Given the description of an element on the screen output the (x, y) to click on. 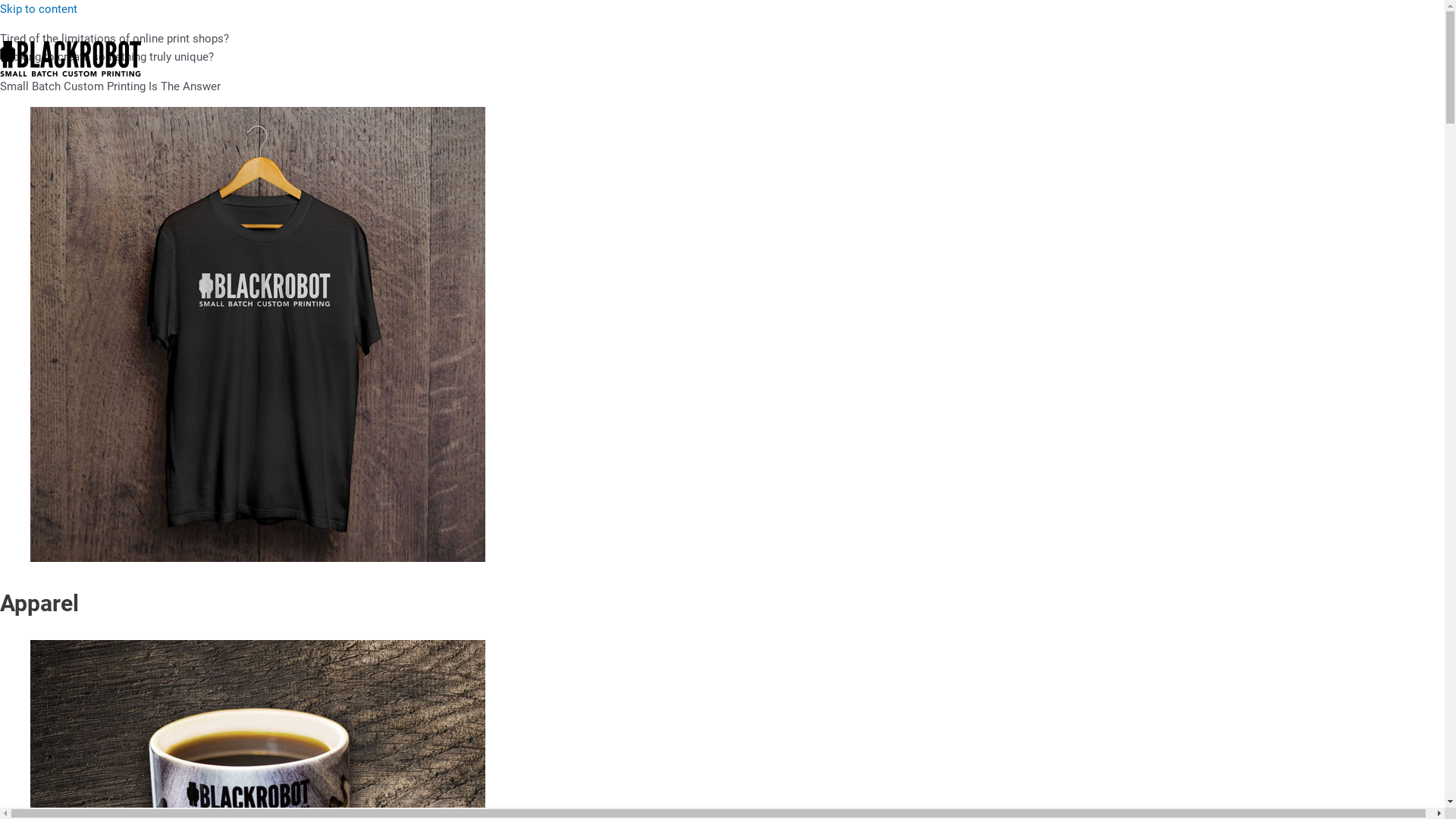
Skip to content Element type: text (38, 8)
